Given the description of an element on the screen output the (x, y) to click on. 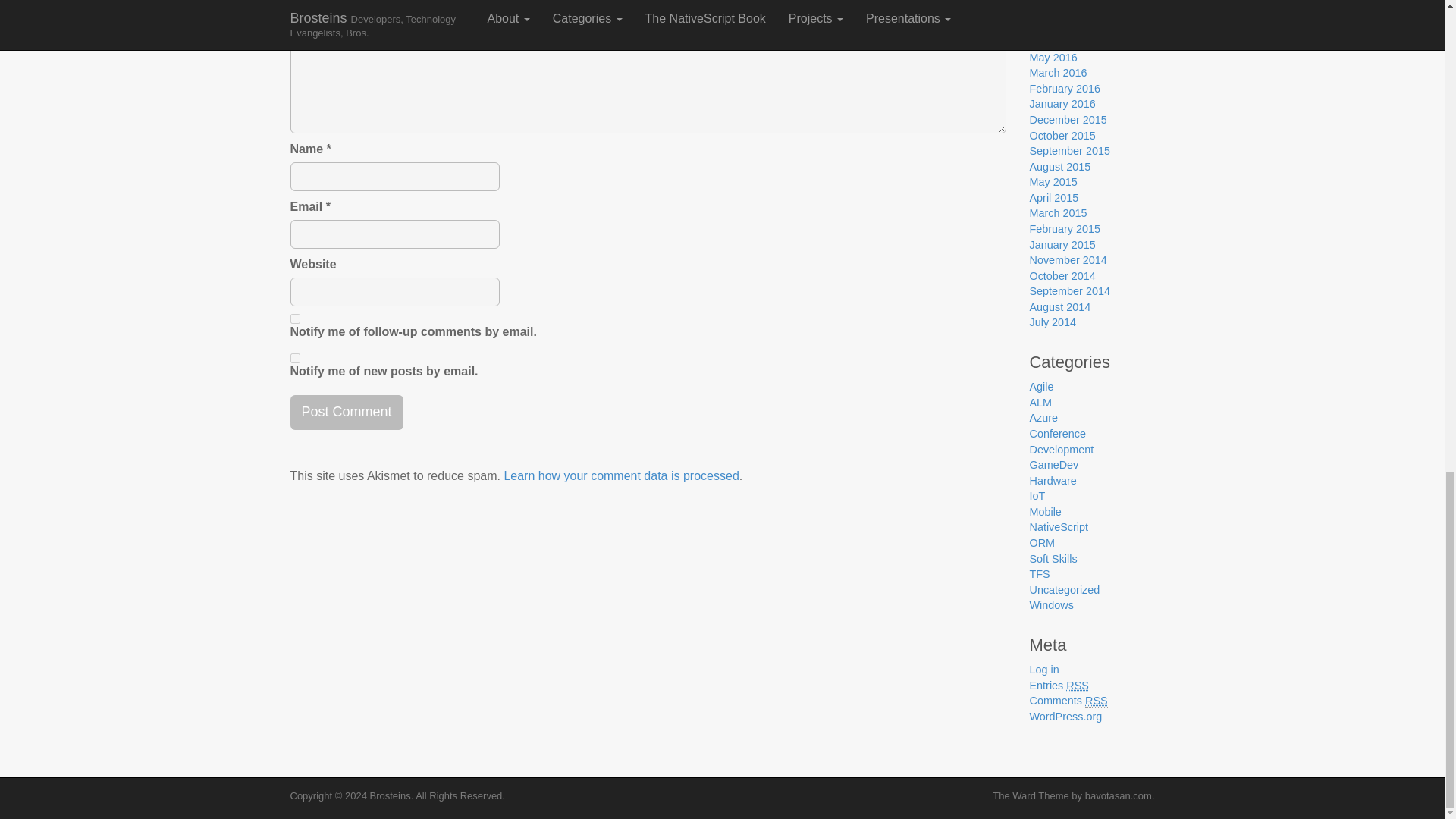
Really Simple Syndication (1077, 685)
subscribe (294, 318)
subscribe (294, 357)
Really Simple Syndication (1096, 700)
Post Comment (346, 411)
